Given the description of an element on the screen output the (x, y) to click on. 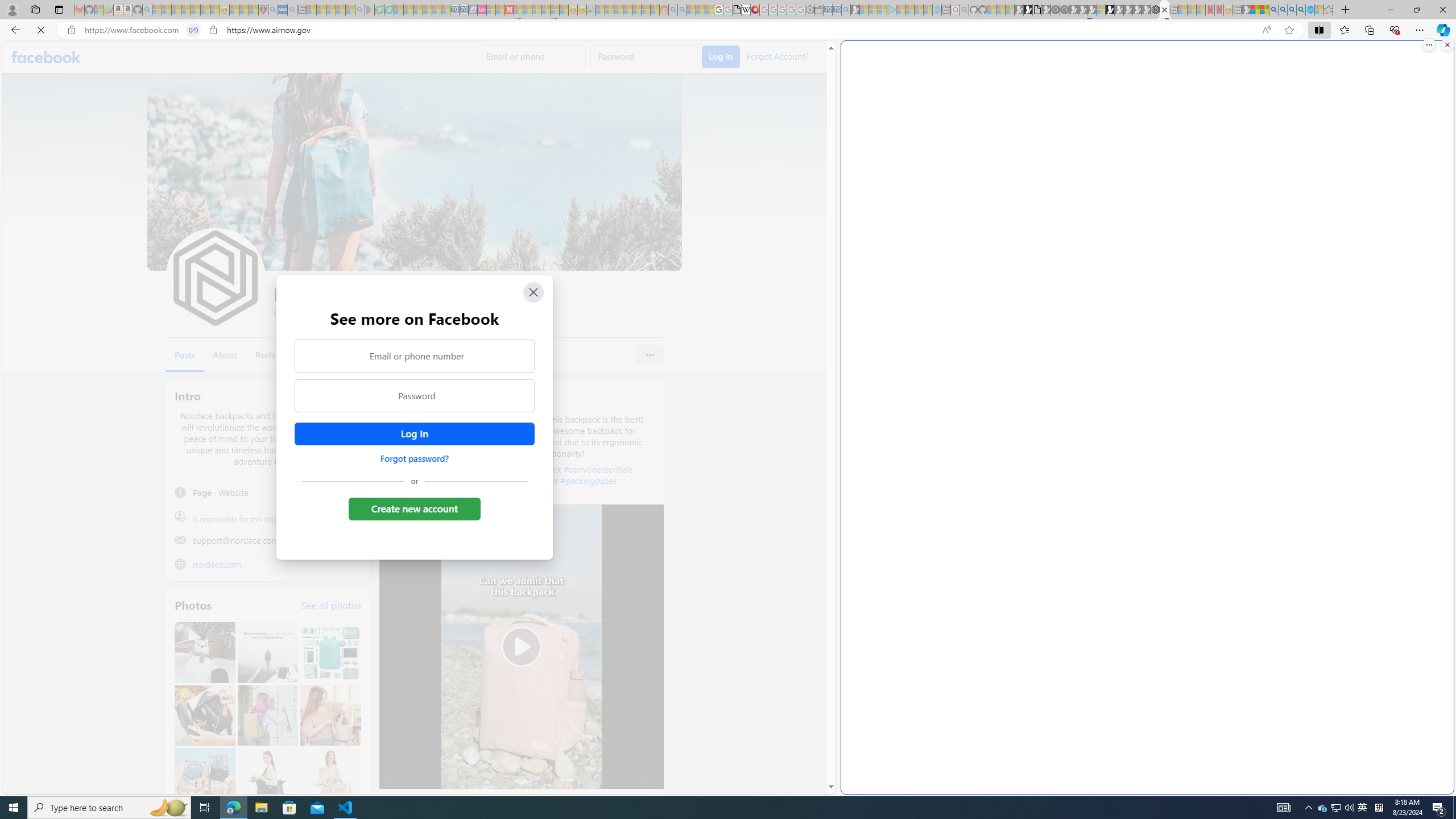
The Weather Channel - MSN - Sleeping (175, 9)
Terms of Use Agreement - Sleeping (378, 9)
Cheap Car Rentals - Save70.com - Sleeping (836, 9)
